Given the description of an element on the screen output the (x, y) to click on. 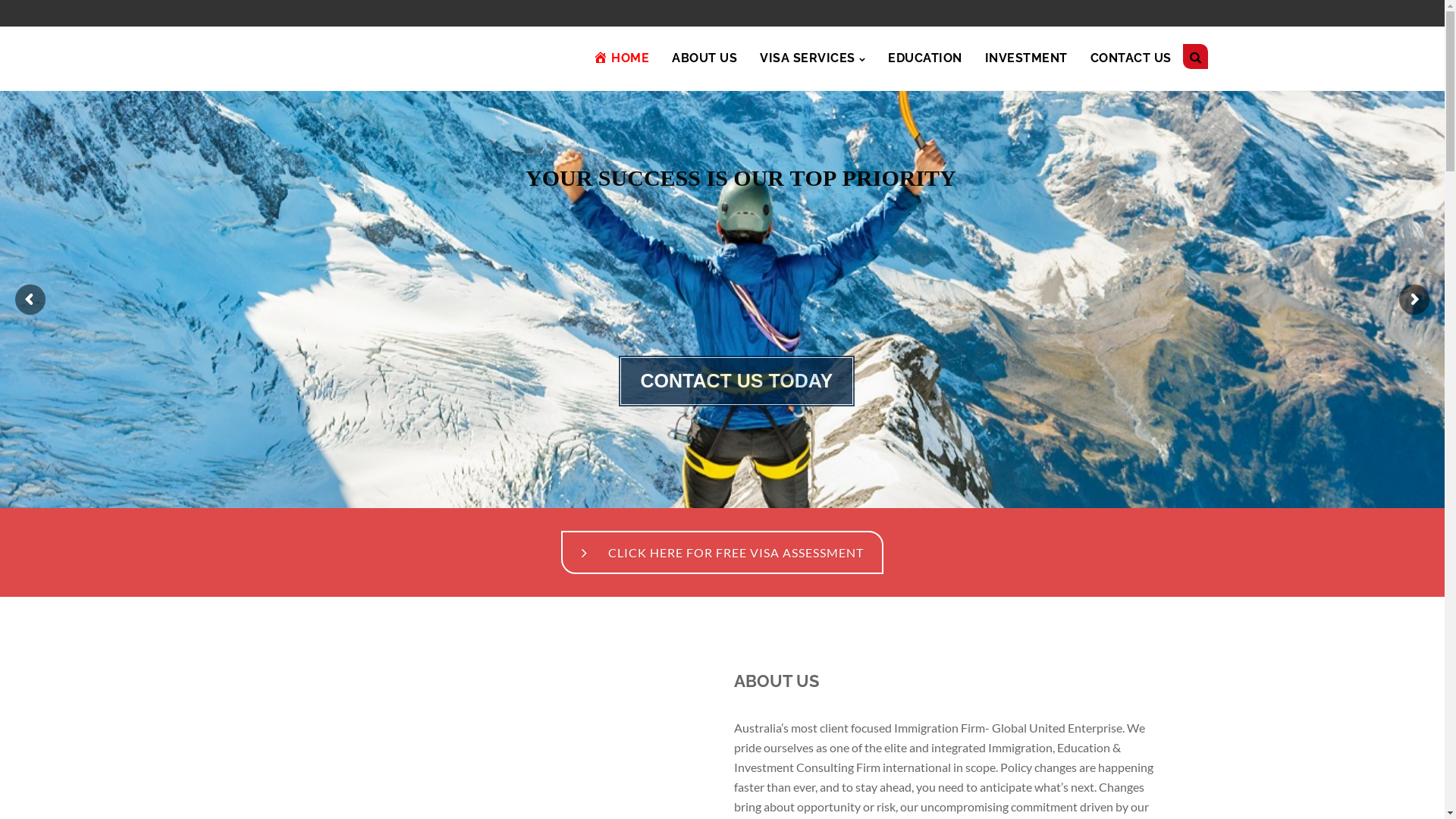
INVESTMENT Element type: text (1025, 58)
CLICK HERE FOR FREE VISA ASSESSMENT Element type: text (722, 552)
ABOUT US Element type: text (704, 58)
VISA SERVICES Element type: text (812, 58)
CONTACT US Element type: text (1130, 58)
HOME Element type: text (621, 58)
EDUCATION Element type: text (925, 58)
